Given the description of an element on the screen output the (x, y) to click on. 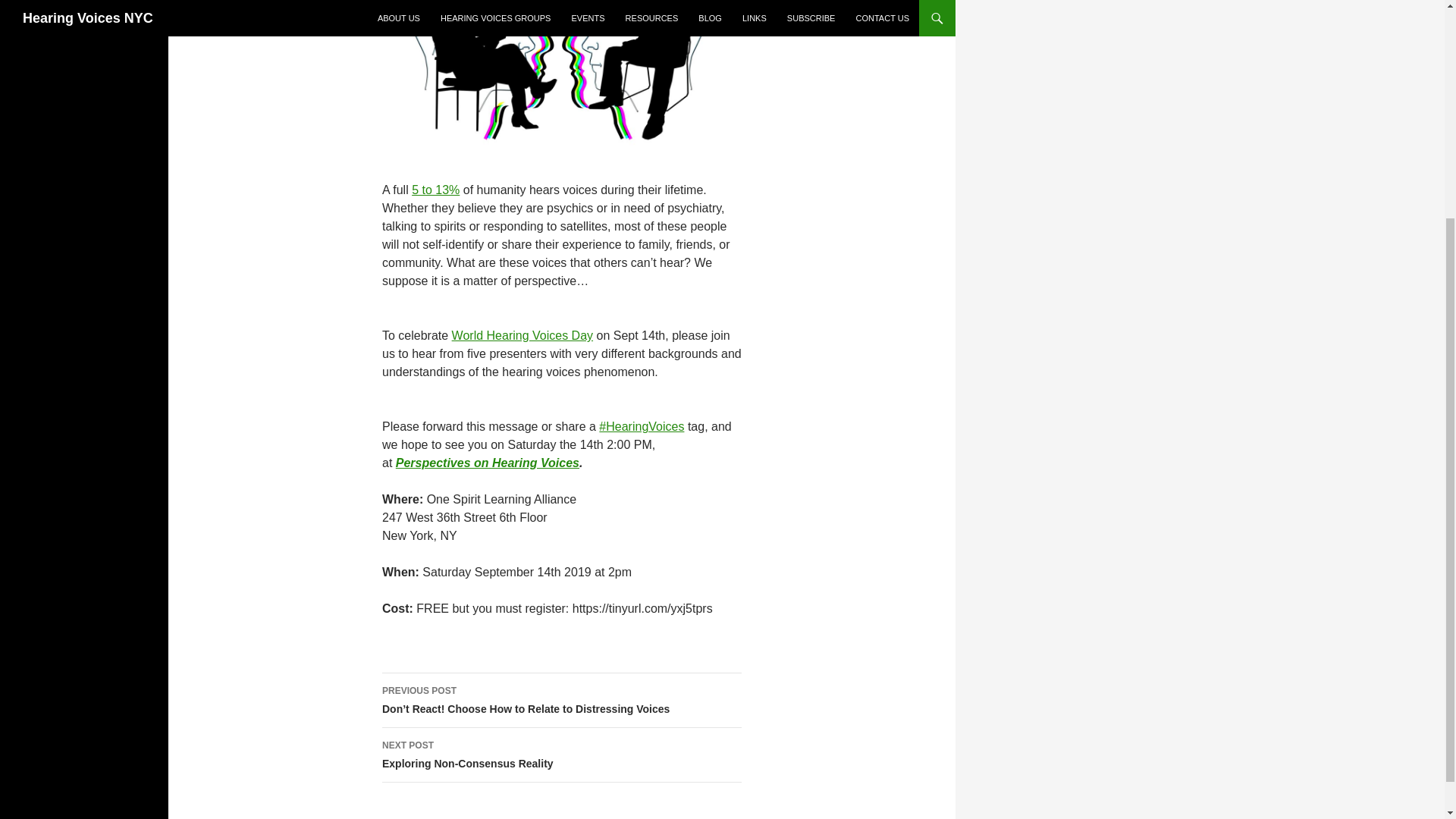
World Hearing Voices Day (521, 335)
Perspectives on Hearing Voices (561, 755)
